Given the description of an element on the screen output the (x, y) to click on. 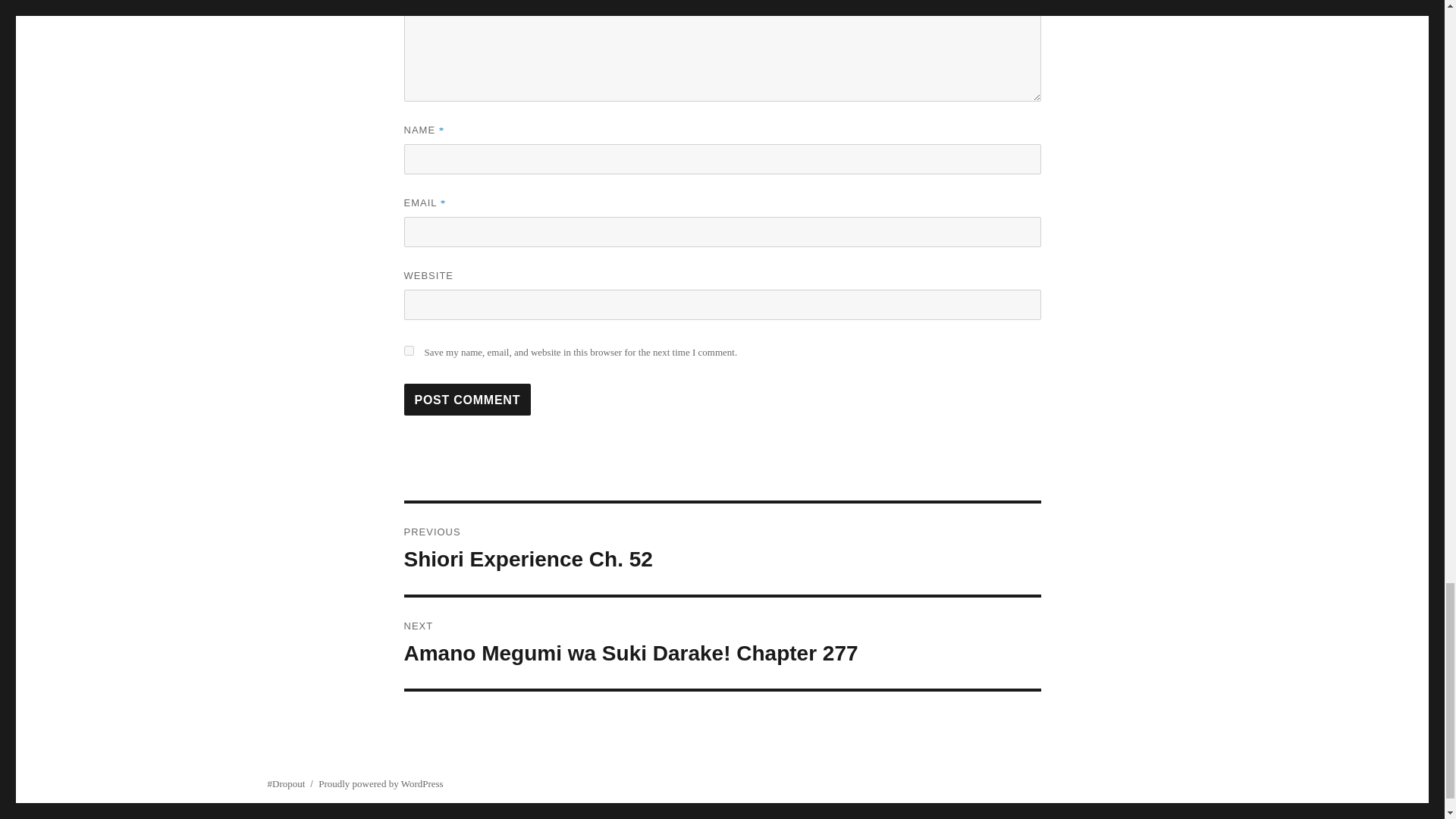
Post Comment (467, 399)
yes (408, 350)
Post Comment (467, 399)
